Given the description of an element on the screen output the (x, y) to click on. 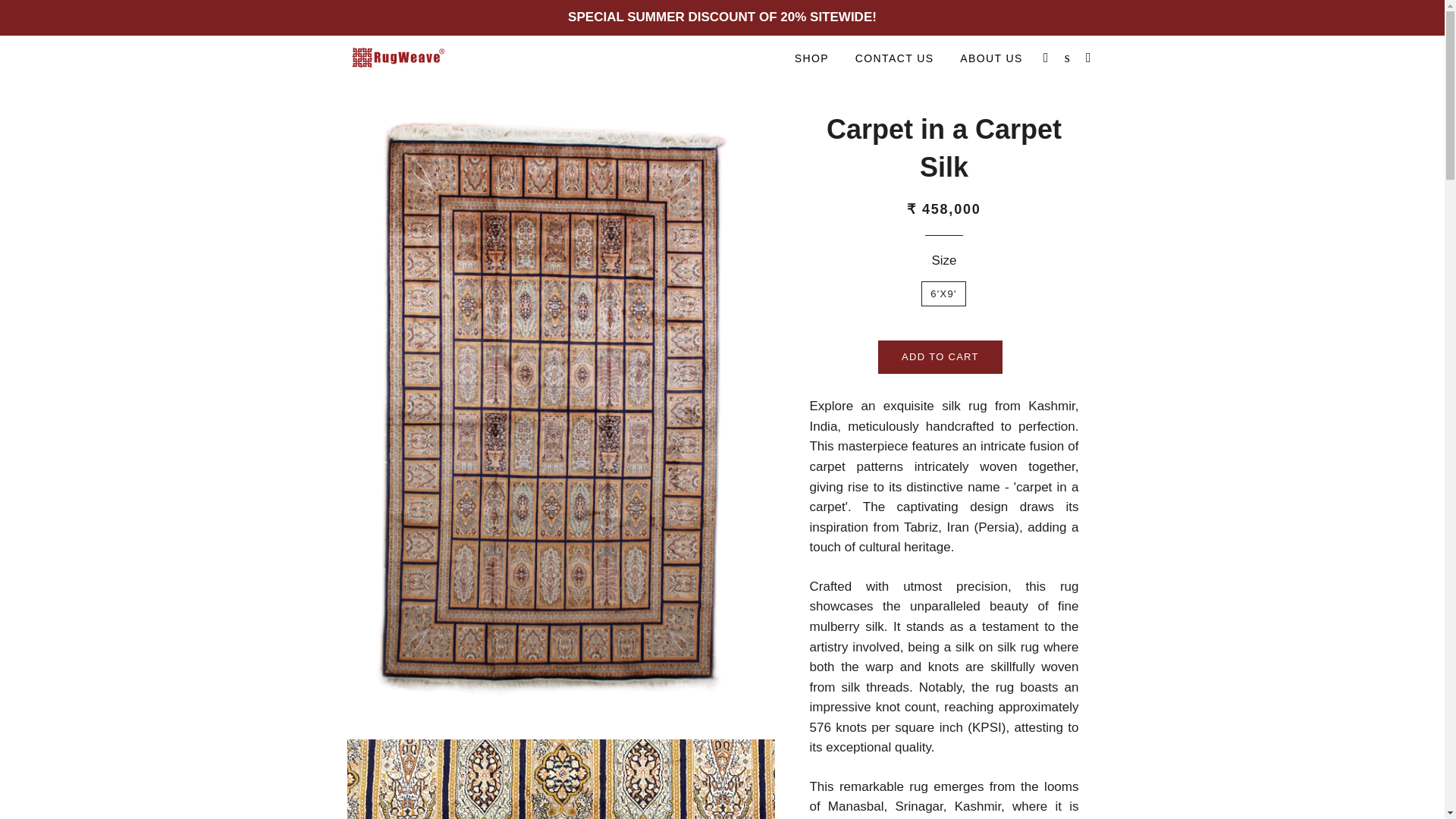
ADD TO CART (940, 356)
ABOUT US (991, 58)
SHOP (811, 58)
CONTACT US (894, 58)
